Given the description of an element on the screen output the (x, y) to click on. 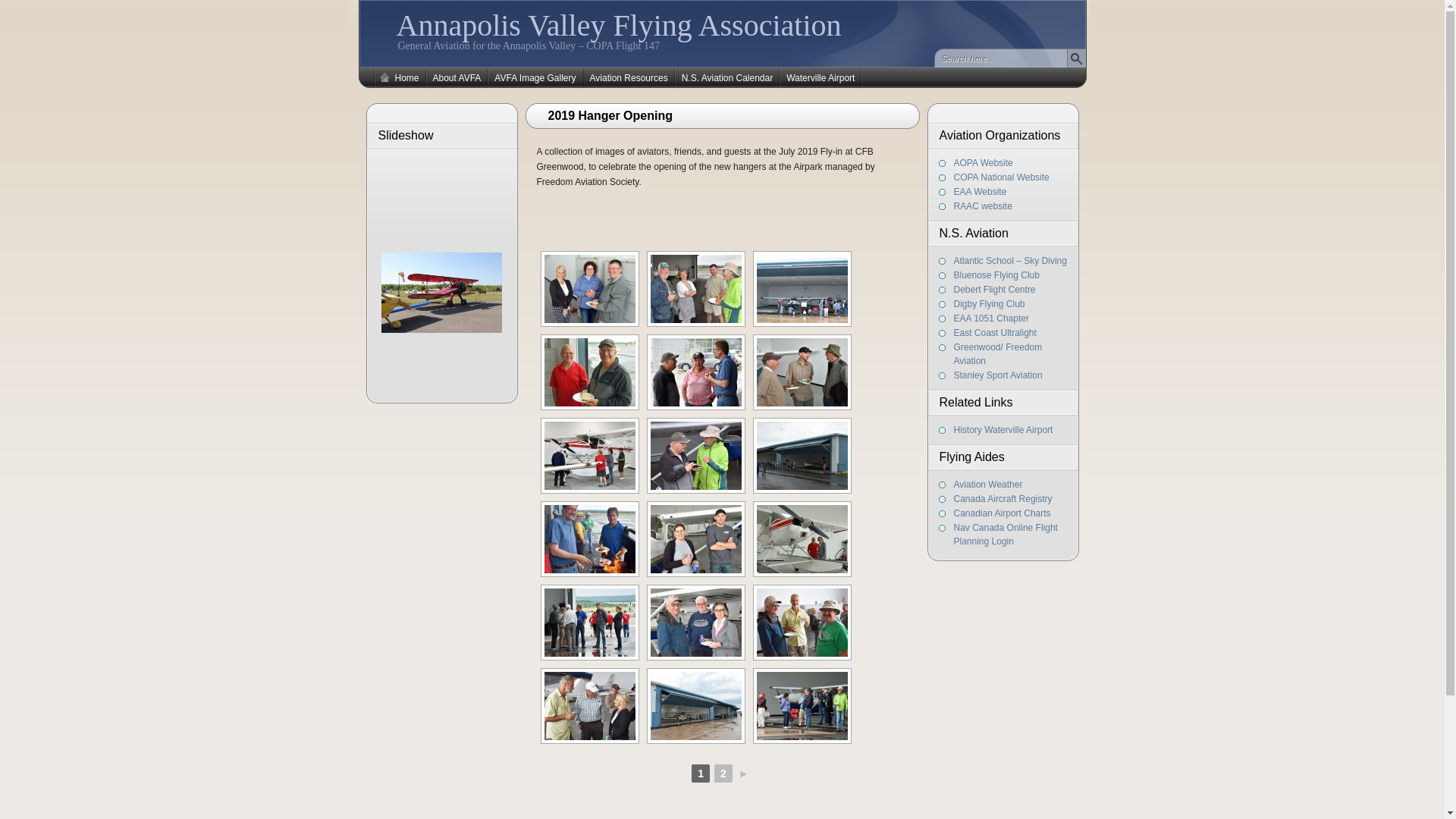
2019 Hanger Opening Element type: text (727, 109)
10 Element type: hover (695, 288)
Canada Aircraft Registry Element type: text (1002, 498)
EAA Website Element type: text (980, 191)
Stanley Sport Aviation Element type: text (997, 375)
3 Element type: hover (801, 705)
Canadian Airport Charts Element type: text (1002, 513)
1 Element type: hover (589, 288)
15 Element type: hover (801, 372)
25 Element type: hover (695, 622)
RAAC website Element type: text (982, 205)
Nav Canada Online Flight Planning Login Element type: text (1005, 534)
16 Element type: hover (589, 455)
17 Element type: hover (695, 455)
Waterville Airport Element type: text (820, 77)
27 Element type: hover (589, 705)
14 Element type: hover (695, 372)
2 Element type: text (723, 773)
26 Element type: hover (801, 622)
Annapolis Valley Flying Association Element type: text (617, 25)
COPA National Website Element type: text (1001, 177)
AVFA Image Gallery Element type: text (534, 77)
AOPA Website Element type: text (983, 162)
Debert Flight Centre Element type: text (994, 289)
Aviation Weather Element type: text (987, 484)
21 Element type: hover (695, 539)
24 Element type: hover (589, 622)
EAA 1051 Chapter Element type: text (991, 318)
East Coast Ultralight Element type: text (994, 332)
22 Element type: hover (801, 539)
Bluenose Flying Club Element type: text (996, 274)
Boeing Stearman 
Owned by Harry Morse Element type: hover (441, 292)
13 Element type: hover (589, 372)
Home Element type: text (399, 77)
Greenwood/ Freedom Aviation Element type: text (997, 354)
About AVFA Element type: text (456, 77)
History Waterville Airport Element type: text (1003, 429)
28 Element type: hover (695, 705)
N.S. Aviation Calendar Element type: text (727, 77)
20 Element type: hover (589, 539)
Find Element type: text (1075, 57)
12 Element type: hover (801, 288)
2 Element type: hover (801, 455)
Aviation Resources Element type: text (628, 77)
Digby Flying Club Element type: text (989, 303)
